Given the description of an element on the screen output the (x, y) to click on. 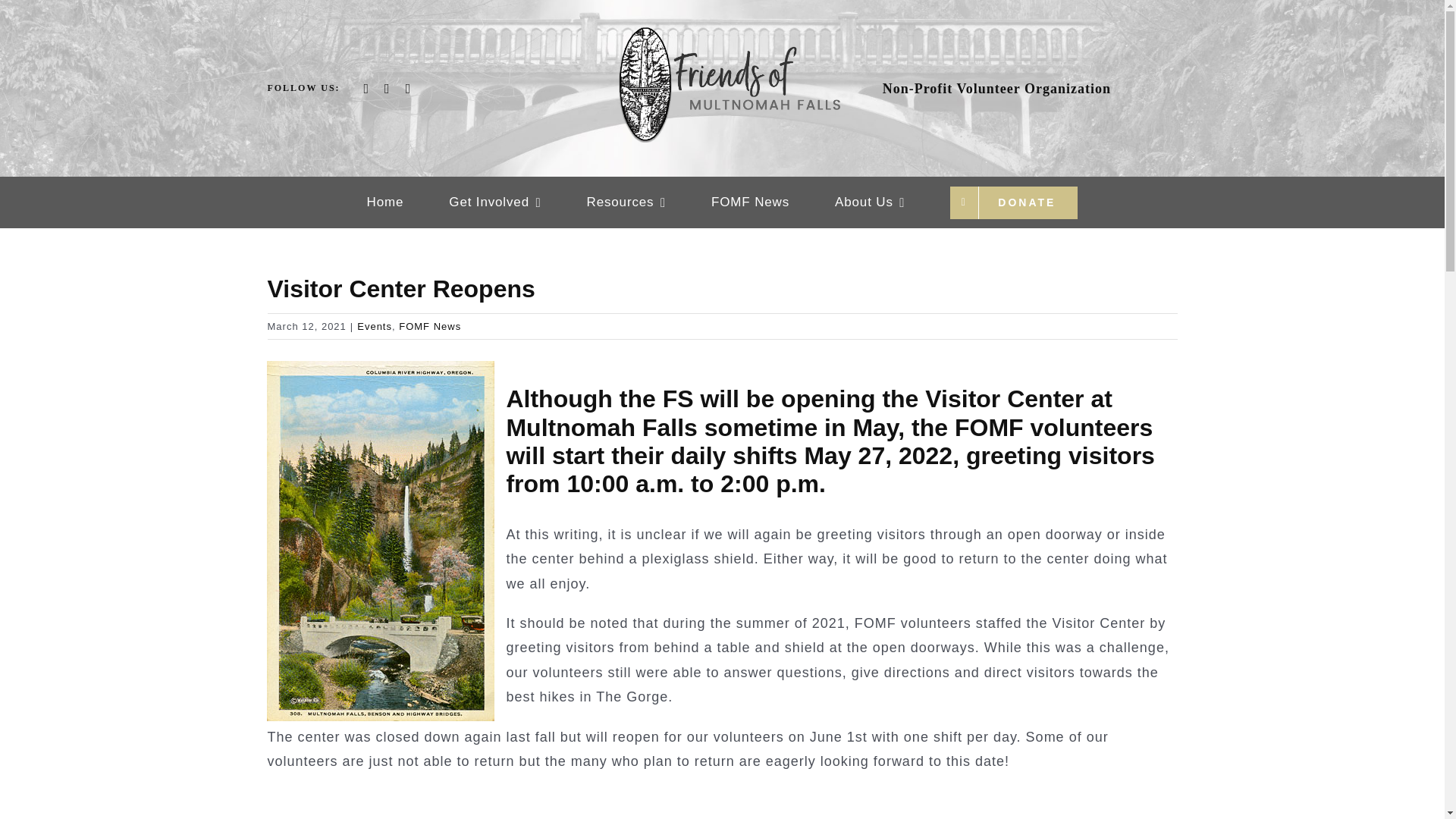
Get Involved (494, 202)
FOMF News (750, 202)
About Us (869, 202)
DONATE (1013, 202)
Resources (625, 202)
